Given the description of an element on the screen output the (x, y) to click on. 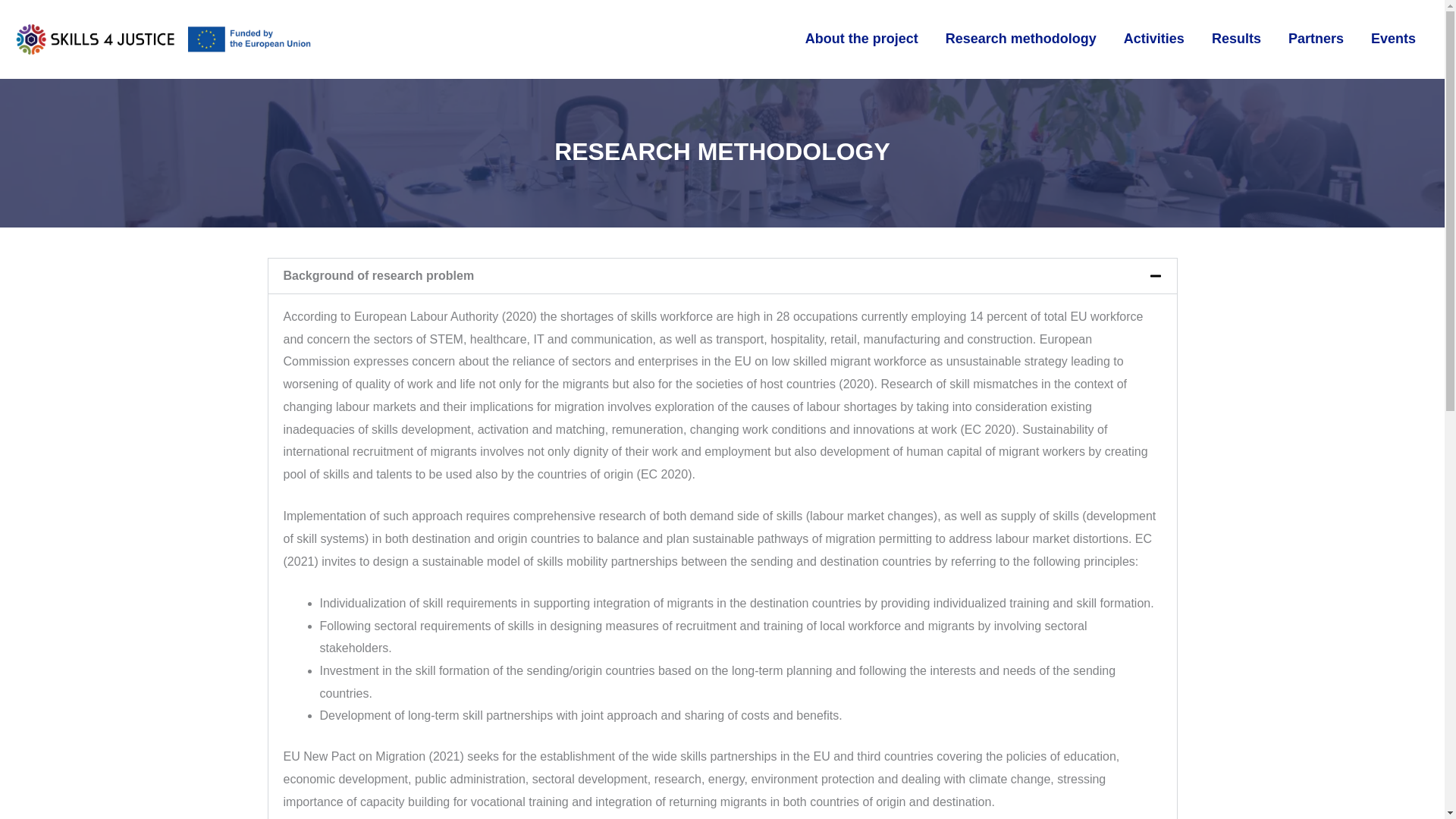
Events (1392, 38)
About the project (861, 38)
Background of research problem (378, 275)
Activities (1153, 38)
Results (1236, 38)
Partners (1315, 38)
Research methodology (1020, 38)
